Given the description of an element on the screen output the (x, y) to click on. 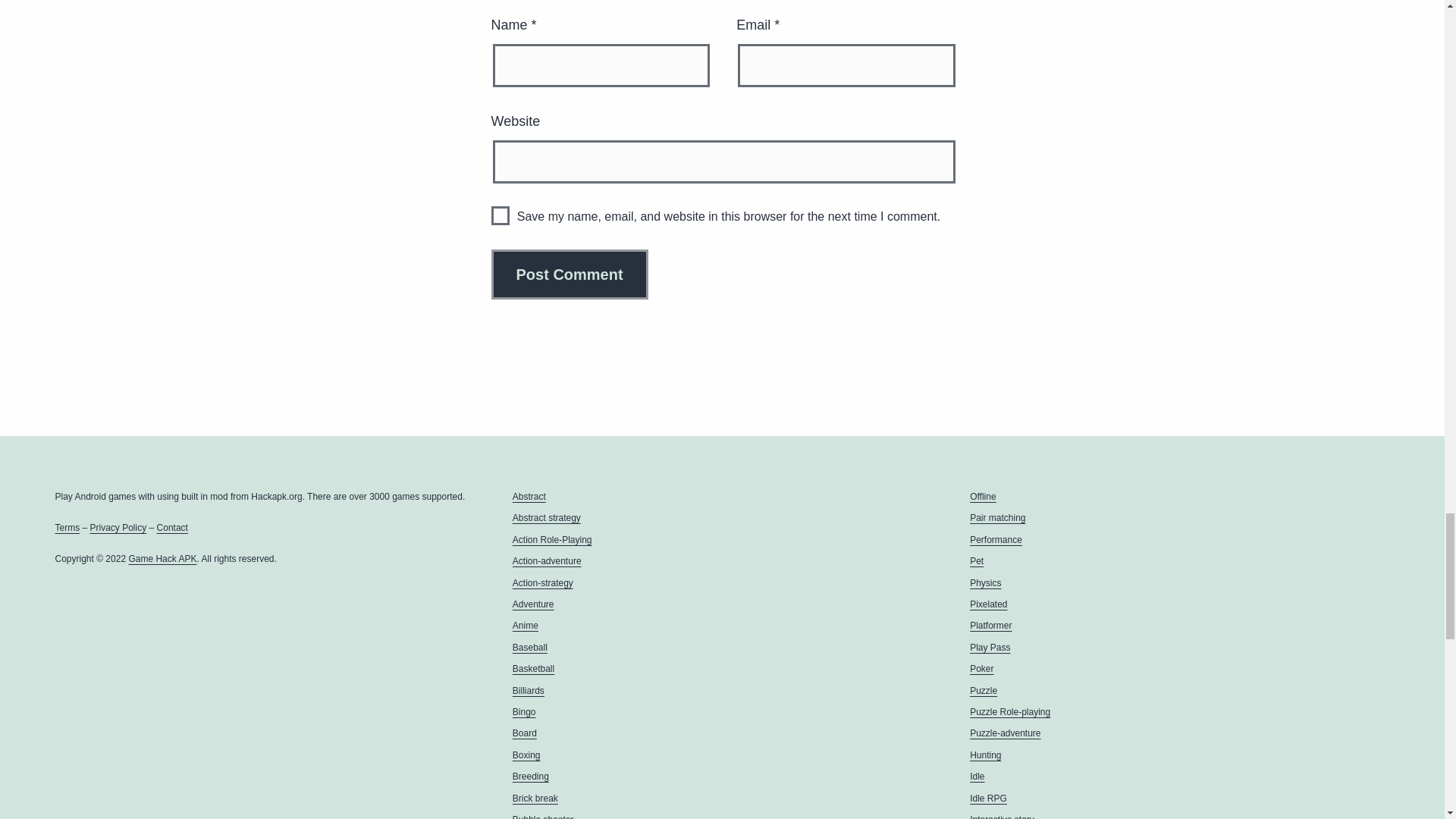
Baseball (529, 647)
Bingo (523, 711)
Anime (525, 624)
Breeding (530, 776)
Action Role-Playing (552, 539)
Post Comment (569, 274)
Action-adventure (546, 561)
Terms (67, 527)
Action-strategy (542, 583)
Board (524, 733)
Brick break (534, 798)
Abstract strategy (546, 517)
Bubble shooter (542, 816)
Basketball (533, 668)
Boxing (526, 755)
